Given the description of an element on the screen output the (x, y) to click on. 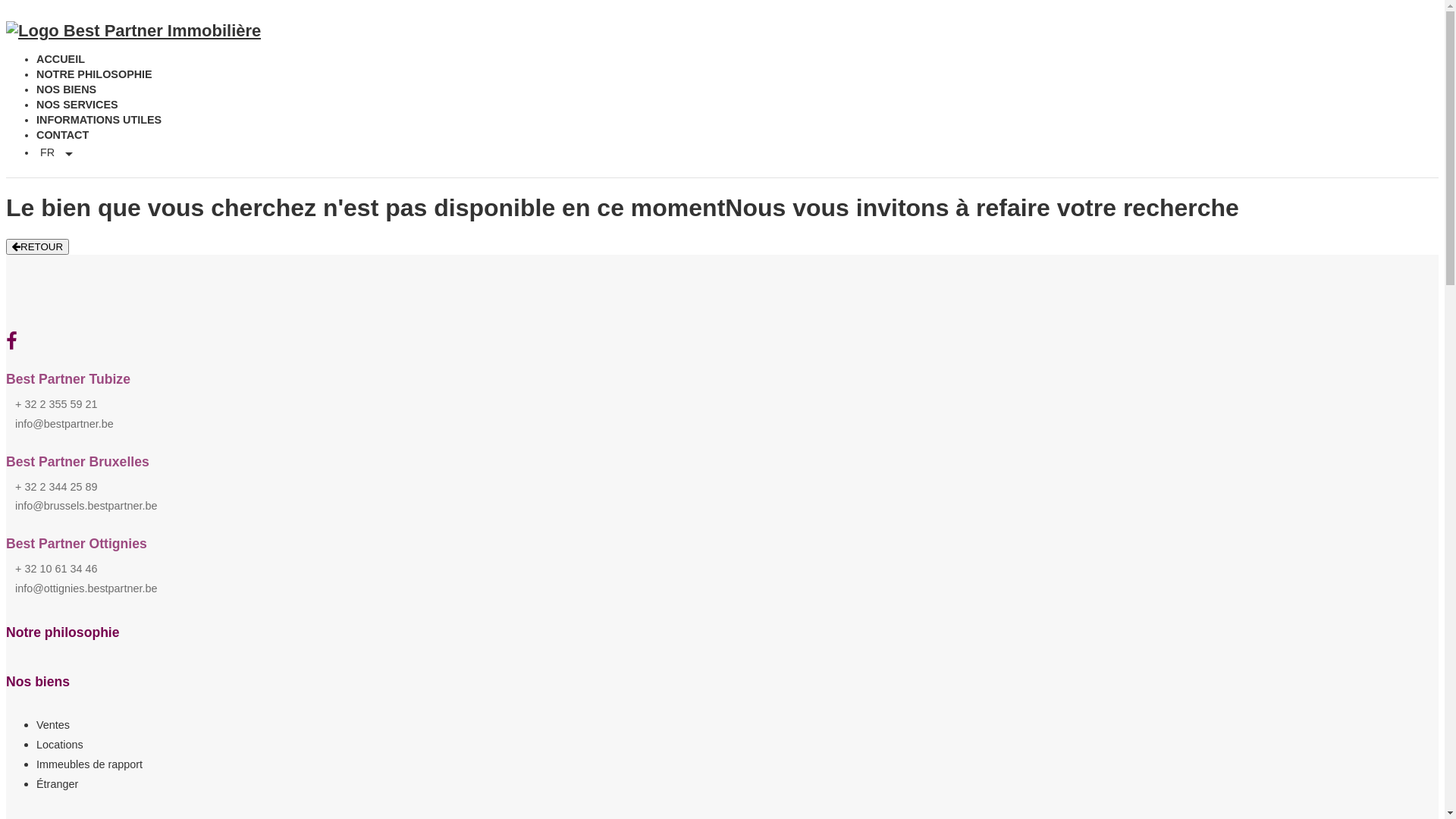
NOS BIENS Element type: text (732, 90)
INFORMATIONS UTILES Element type: text (732, 120)
ACCUEIL Element type: text (732, 59)
Locations Element type: text (59, 744)
Immeubles de rapport Element type: text (89, 764)
Ventes Element type: text (52, 724)
info@brussels.bestpartner.be Element type: text (85, 505)
info@ottignies.bestpartner.be Element type: text (85, 588)
RETOUR Element type: text (37, 246)
+ 32 2 344 25 89 Element type: text (56, 486)
+ 32 2 355 59 21 Element type: text (56, 404)
NOTRE PHILOSOPHIE Element type: text (732, 74)
CONTACT Element type: text (732, 135)
Nos biens Element type: text (37, 681)
NOS SERVICES Element type: text (732, 105)
+ 32 10 61 34 46 Element type: text (56, 568)
info@bestpartner.be Element type: text (64, 423)
FR  Element type: text (57, 153)
Notre philosophie Element type: text (62, 632)
